Given the description of an element on the screen output the (x, y) to click on. 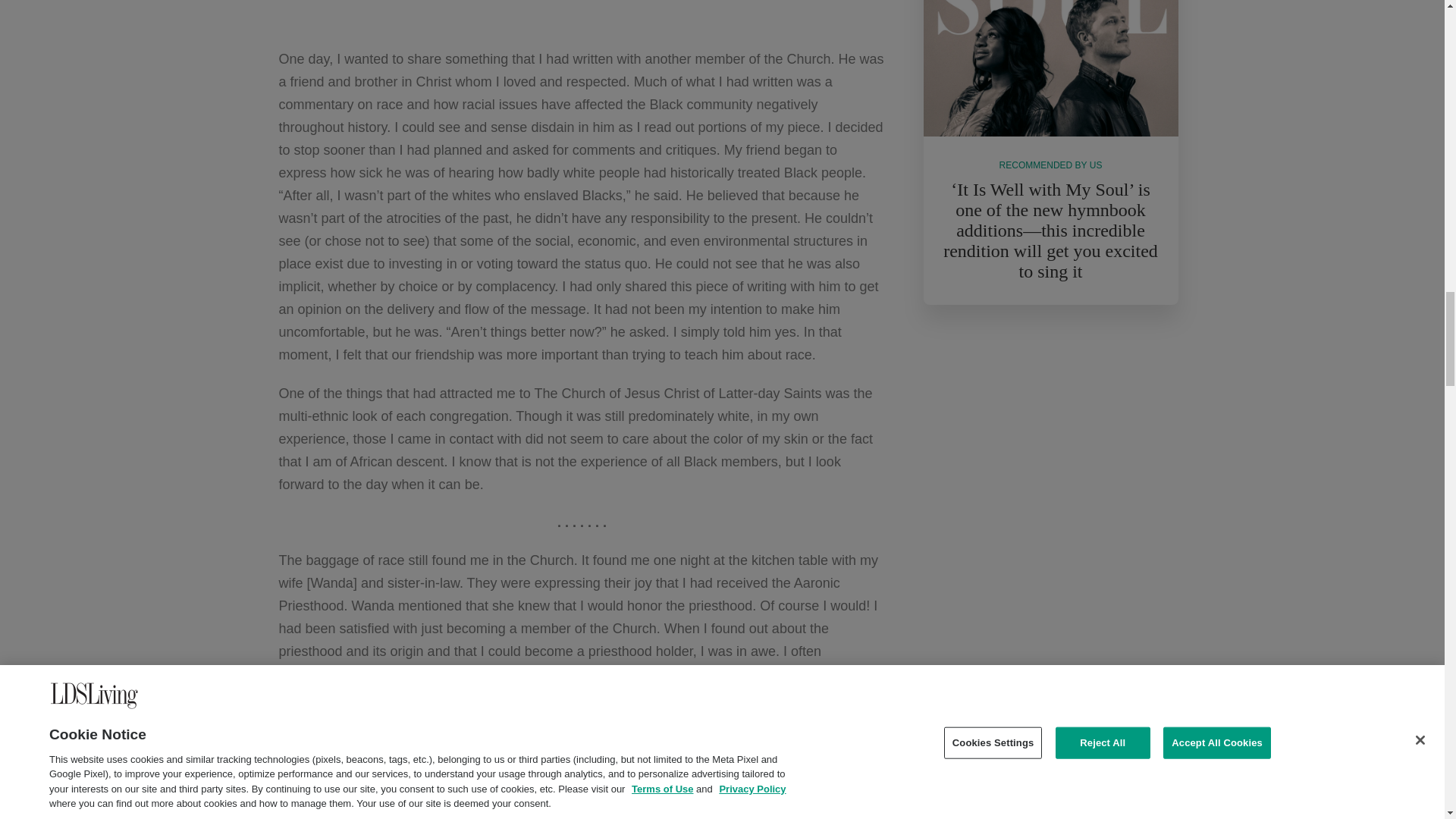
3rd party ad content (1050, 440)
3rd party ad content (582, 8)
